Given the description of an element on the screen output the (x, y) to click on. 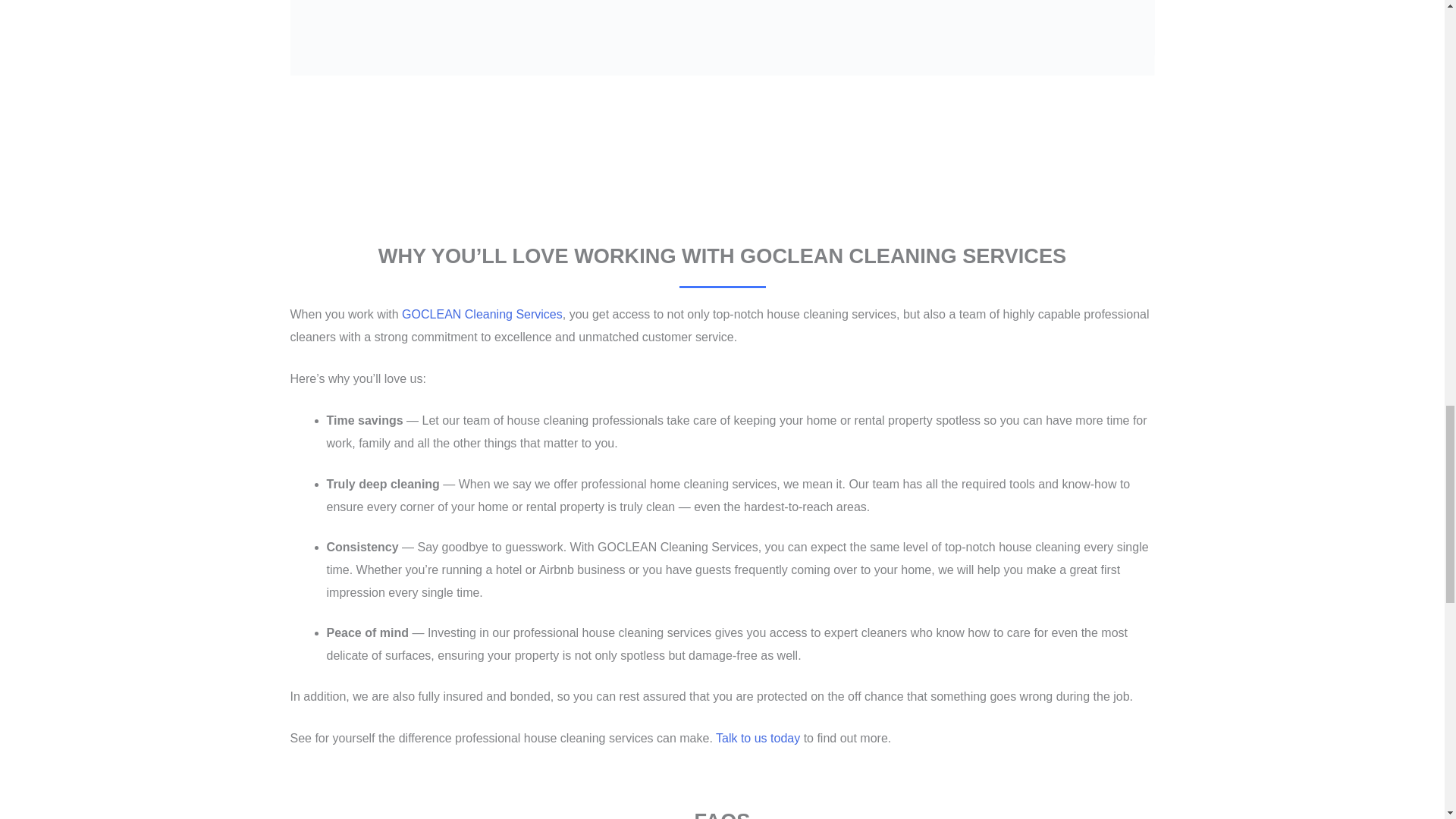
Talk to us today (757, 738)
GOCLEAN Cleaning Services (481, 314)
